Given the description of an element on the screen output the (x, y) to click on. 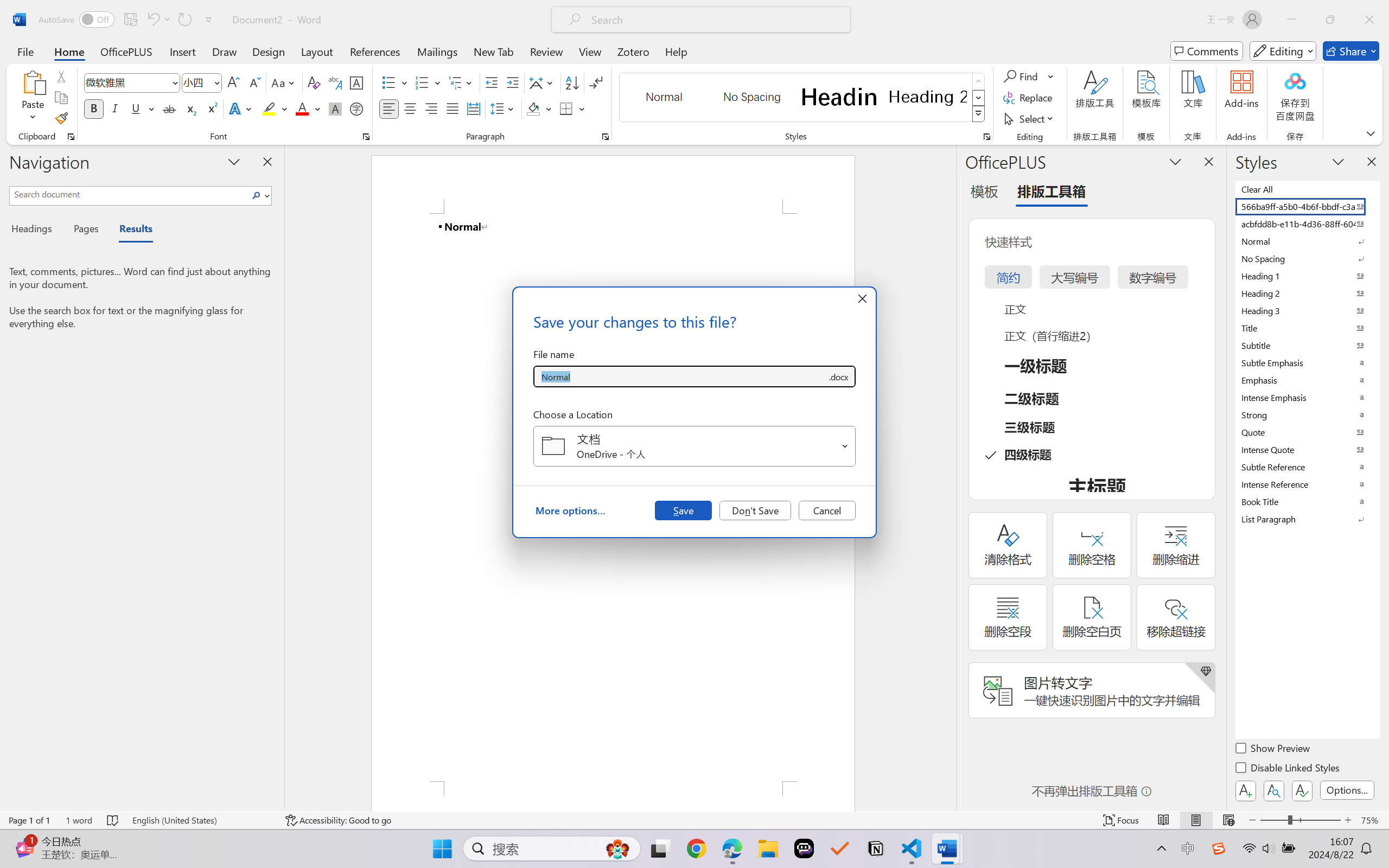
Copy (60, 97)
Text Effects and Typography (241, 108)
Undo Text Fill Effect (158, 19)
Book Title (1306, 501)
Decrease Indent (491, 82)
Language English (United States) (201, 819)
Row up (978, 81)
Superscript (210, 108)
Accessibility Checker Accessibility: Good to go (338, 819)
Layout (316, 51)
Paste (33, 97)
